Given the description of an element on the screen output the (x, y) to click on. 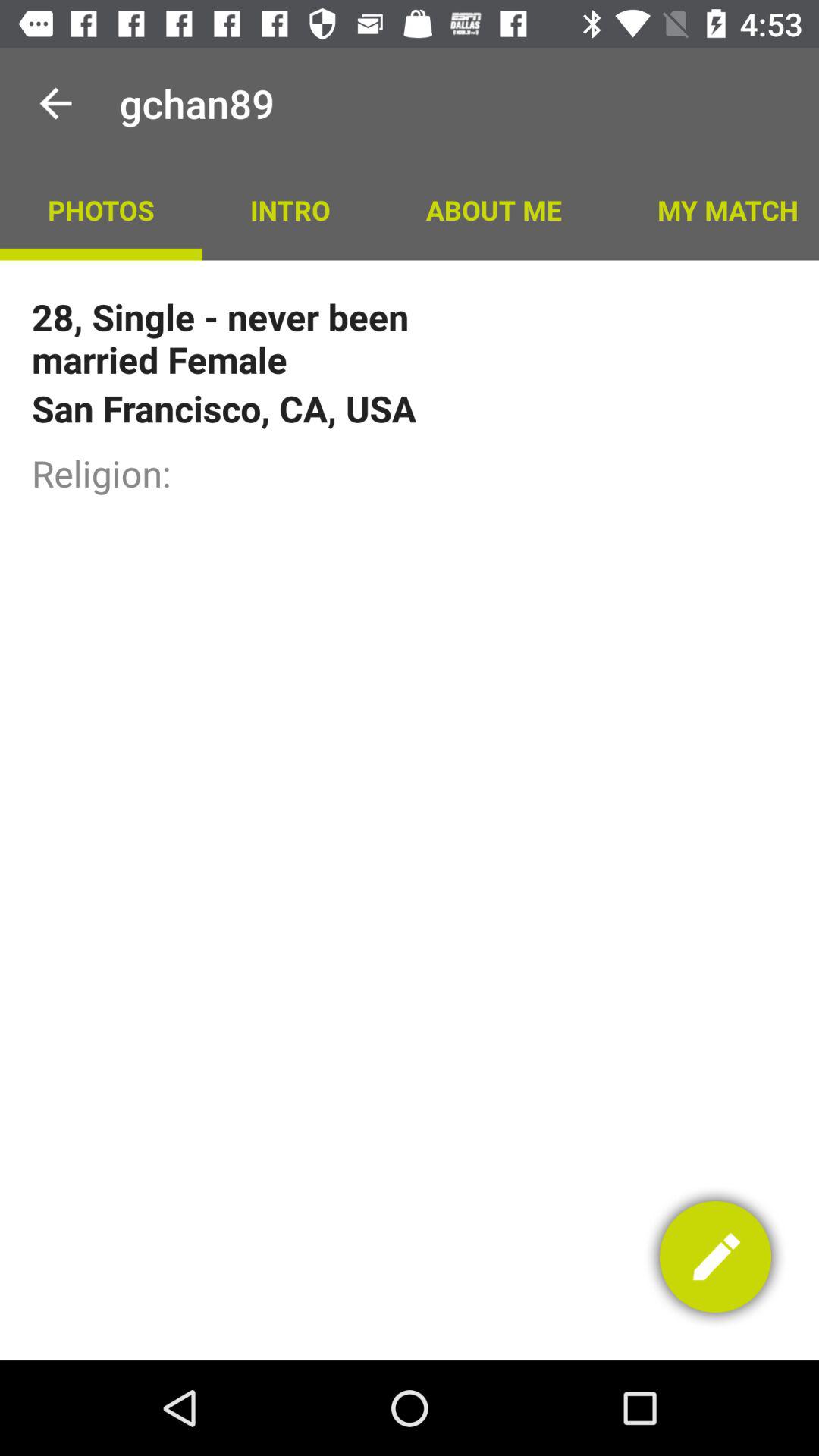
choose item below gchan89 item (290, 209)
